Given the description of an element on the screen output the (x, y) to click on. 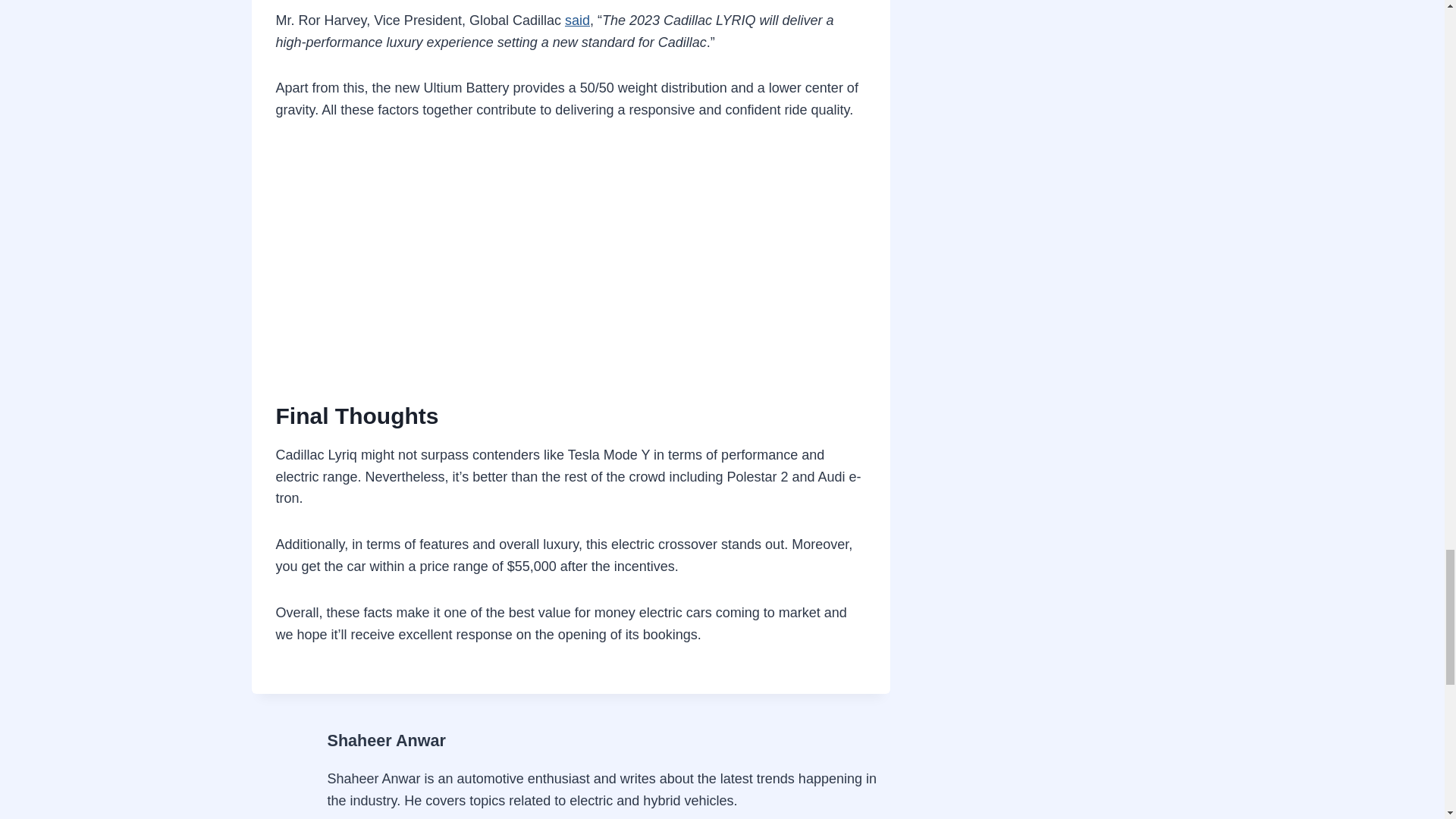
Posts by Shaheer Anwar (386, 740)
Shaheer Anwar (386, 740)
said (576, 20)
